Given the description of an element on the screen output the (x, y) to click on. 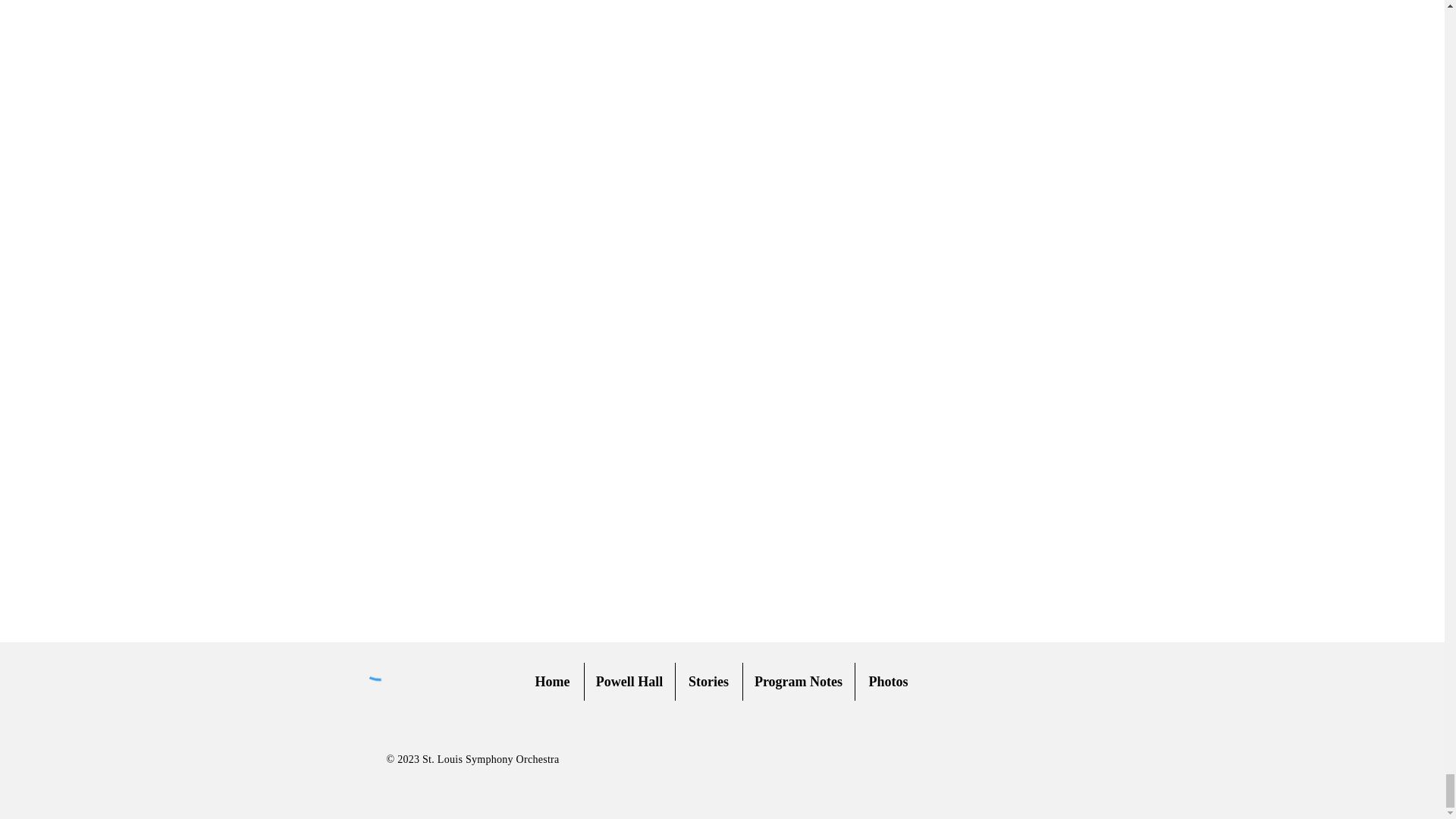
Photos (888, 681)
Stories (708, 681)
Program Notes (798, 681)
Home (552, 681)
Powell Hall (628, 681)
